Given the description of an element on the screen output the (x, y) to click on. 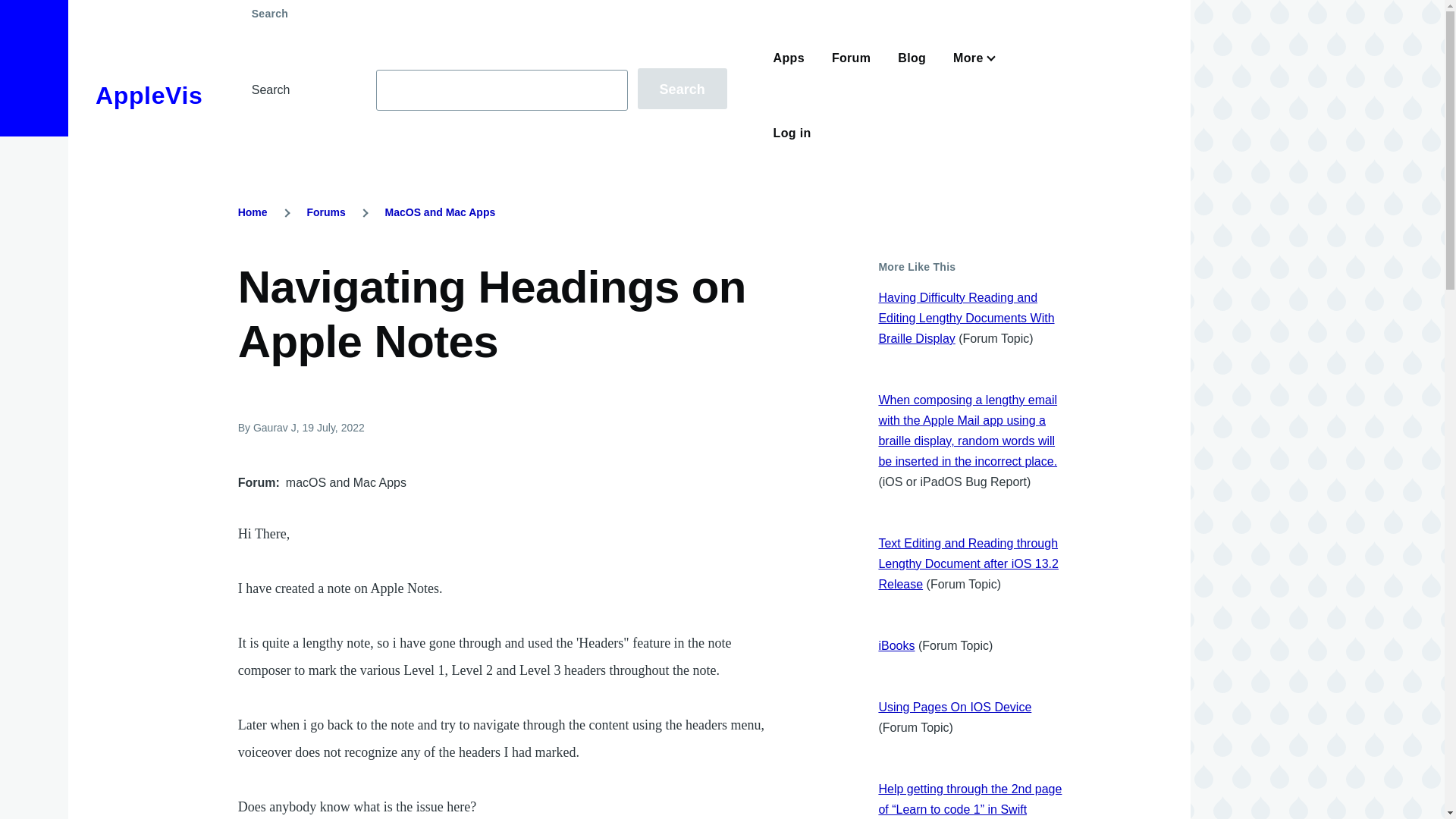
Skip to main content (595, 6)
AppleVis (149, 94)
MacOS and Mac Apps (440, 212)
More (971, 57)
Forum (850, 57)
iBooks (895, 645)
Search (681, 87)
Home (149, 94)
Home (252, 212)
Forums (325, 212)
Log in (791, 132)
Browse and search our App Directories (789, 57)
Apps (789, 57)
Search (681, 87)
